Given the description of an element on the screen output the (x, y) to click on. 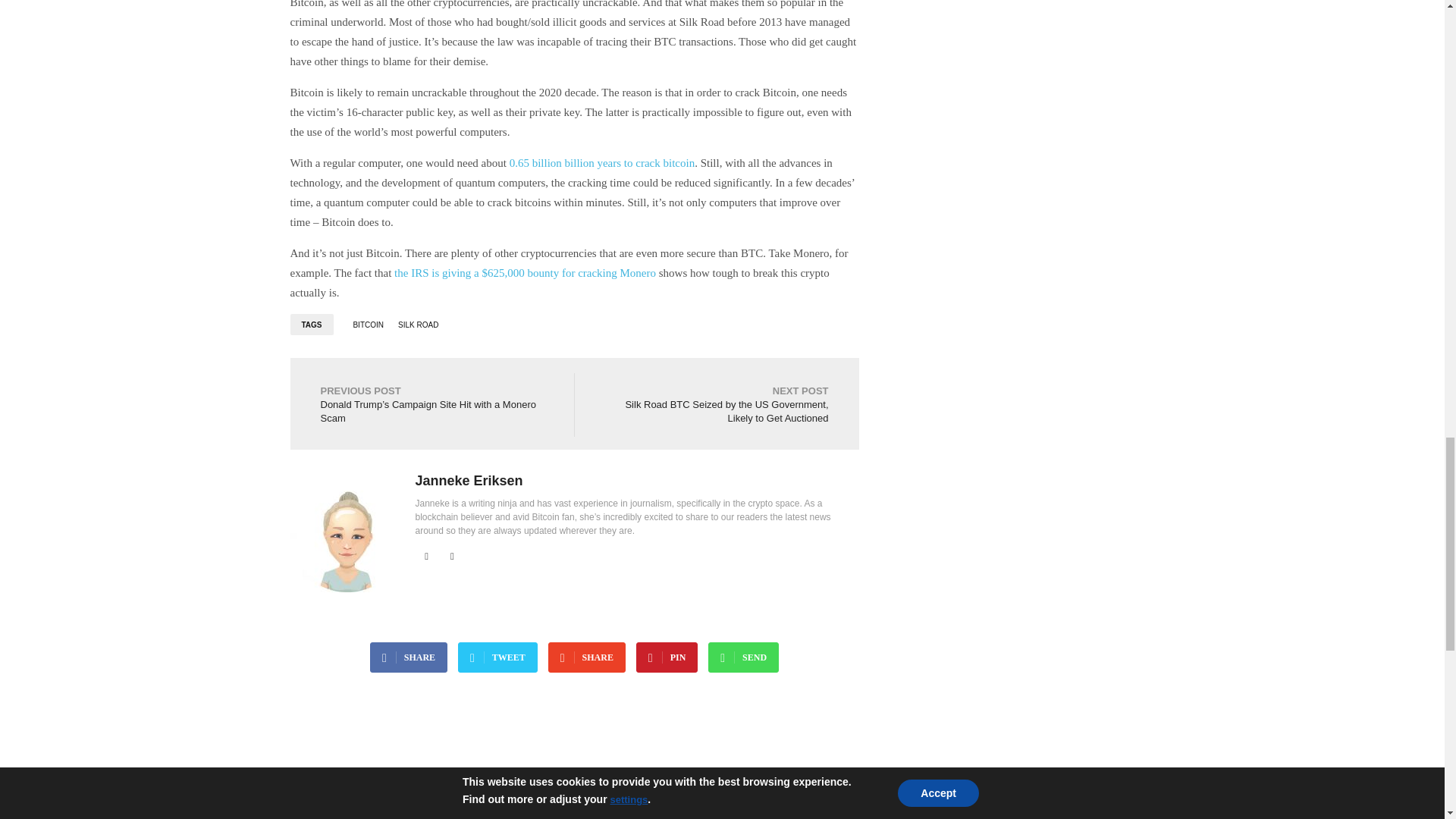
Posts by Janneke Eriksen (468, 480)
